Given the description of an element on the screen output the (x, y) to click on. 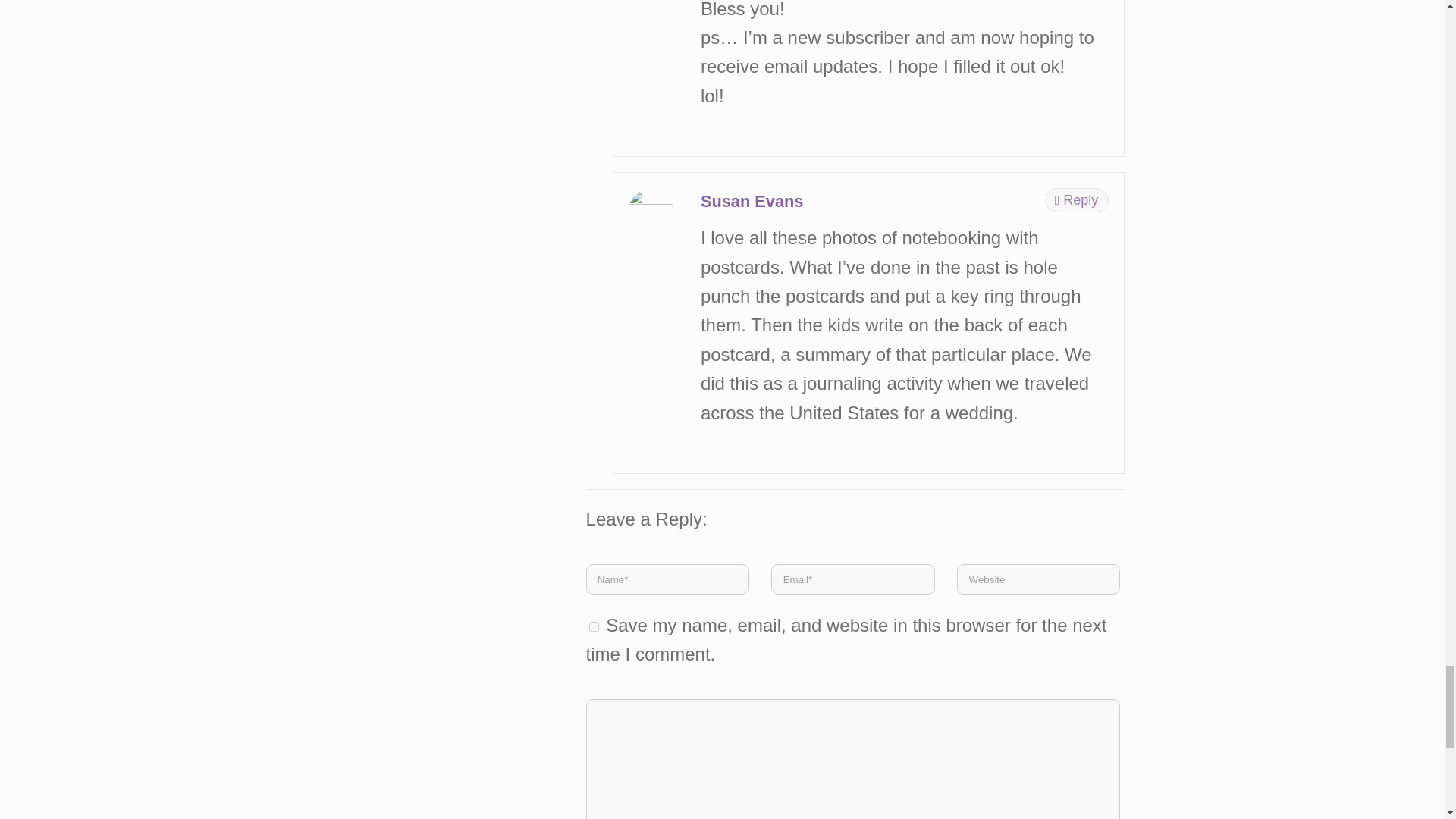
yes (593, 626)
